Given the description of an element on the screen output the (x, y) to click on. 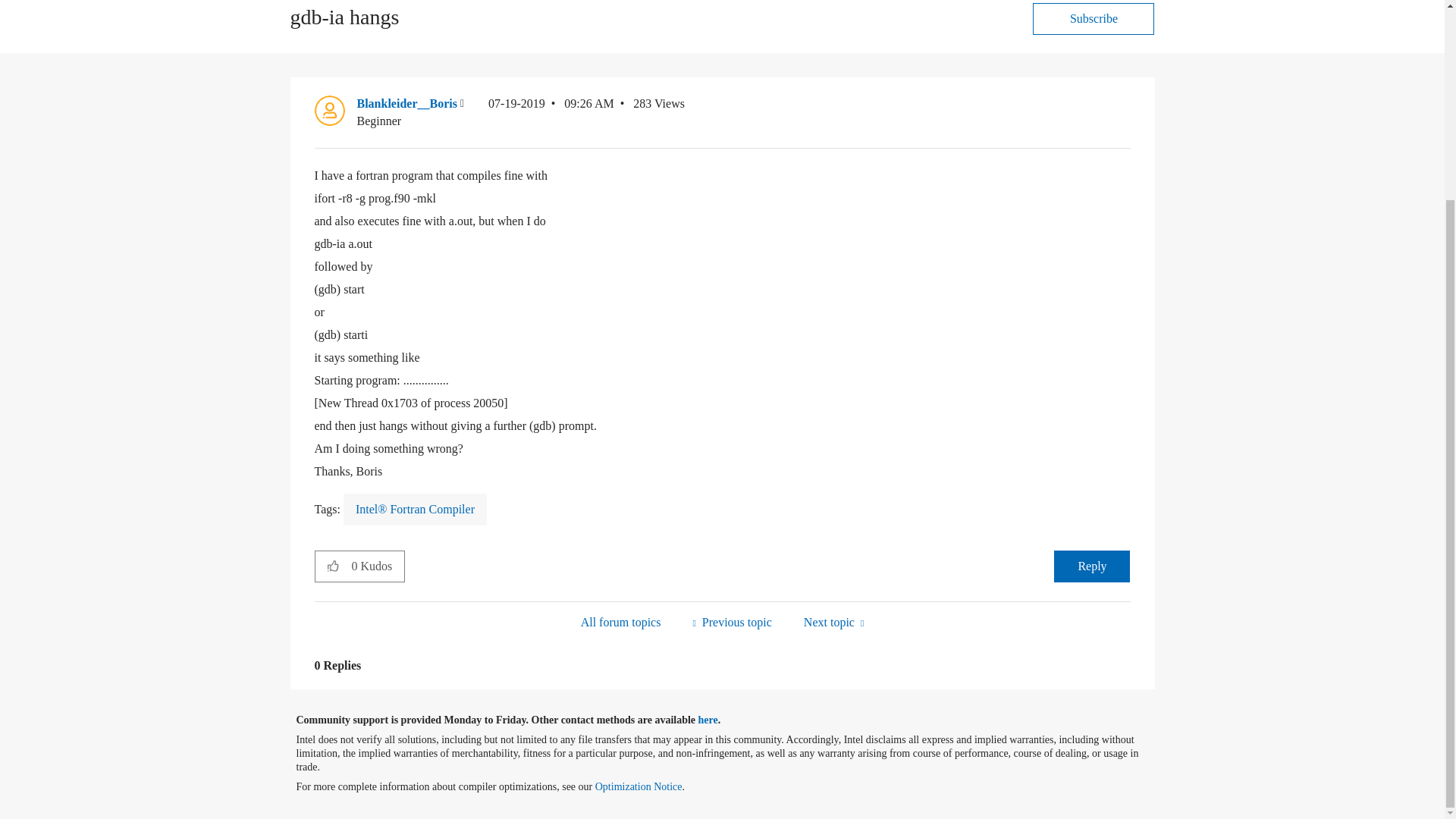
Posted on (550, 112)
The total number of kudos this post has received. (377, 566)
Click here to give kudos to this post. (332, 565)
libifport.so.5: : cannot open shared object file (731, 621)
